Given the description of an element on the screen output the (x, y) to click on. 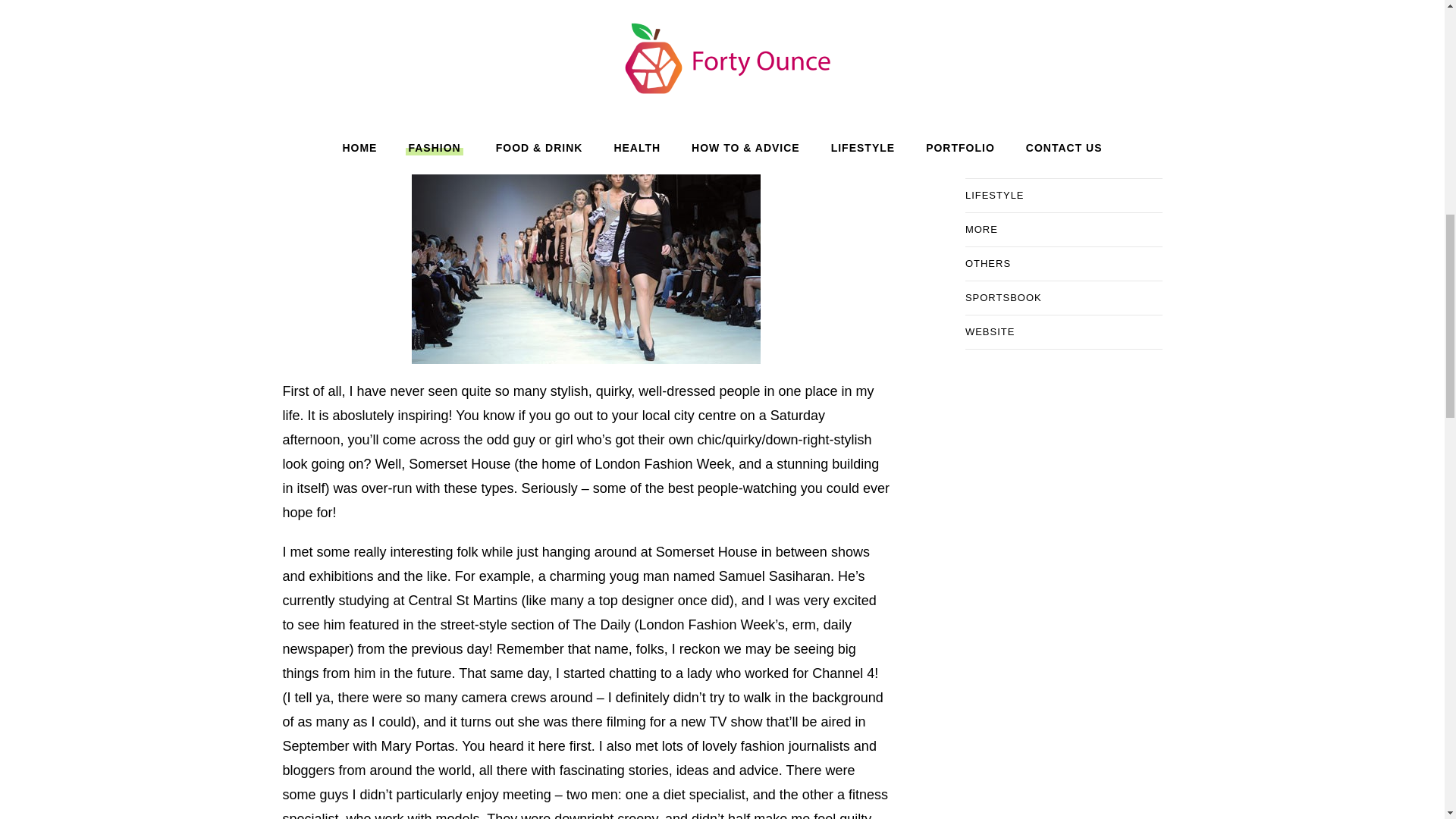
OTHERS (987, 263)
SPORTSBOOK (1003, 297)
MORE (981, 229)
GAME (981, 24)
HAIRSTYLES (999, 59)
LIFESTYLE (995, 195)
HEALTH (986, 92)
WEBSITE (989, 331)
HOME DECOR (1003, 127)
